Given the description of an element on the screen output the (x, y) to click on. 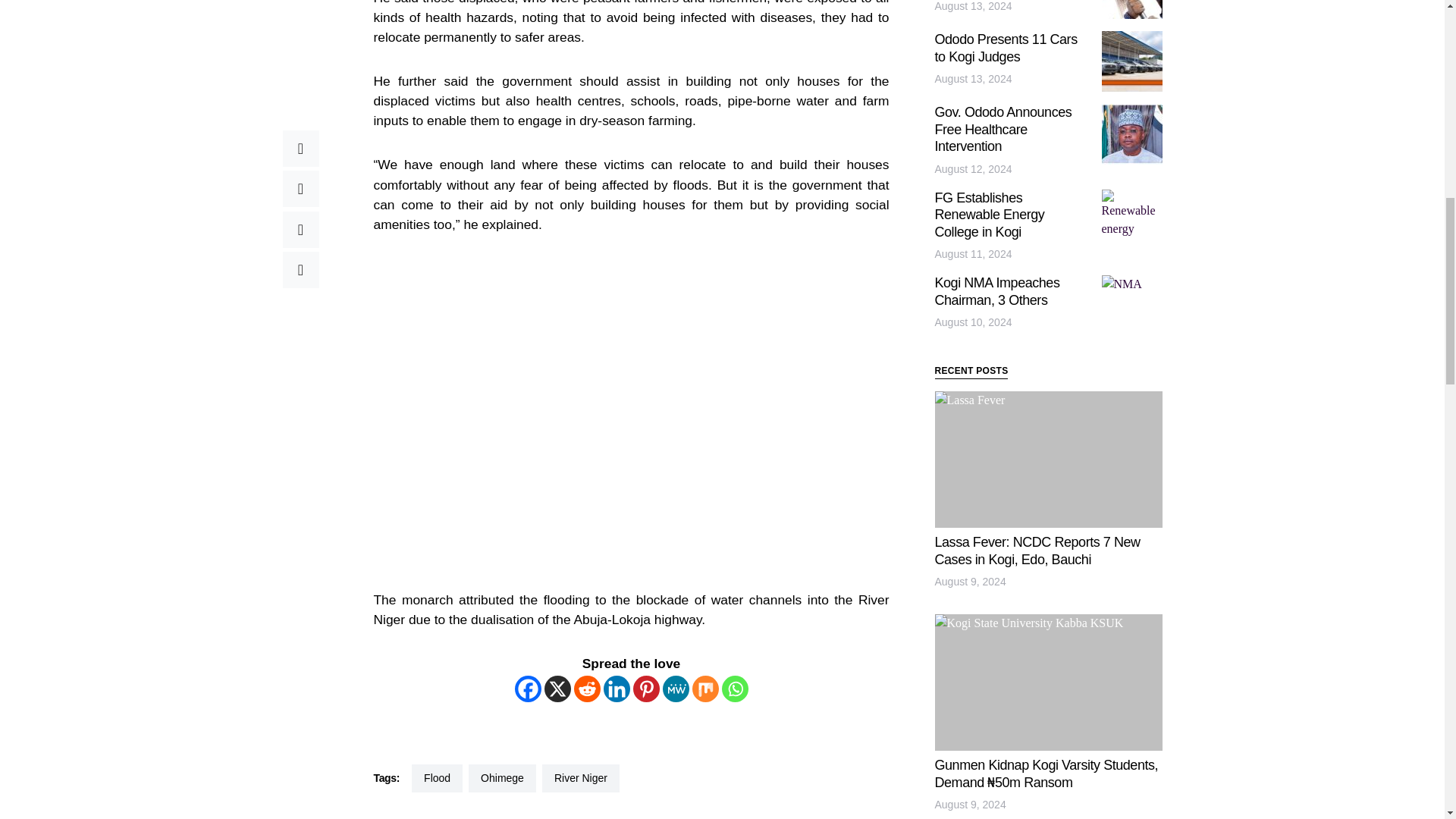
Facebook (526, 688)
MeWe (675, 688)
Pinterest (645, 688)
Linkedin (617, 688)
X (557, 688)
Mix (704, 688)
Whatsapp (735, 688)
Reddit (586, 688)
